Given the description of an element on the screen output the (x, y) to click on. 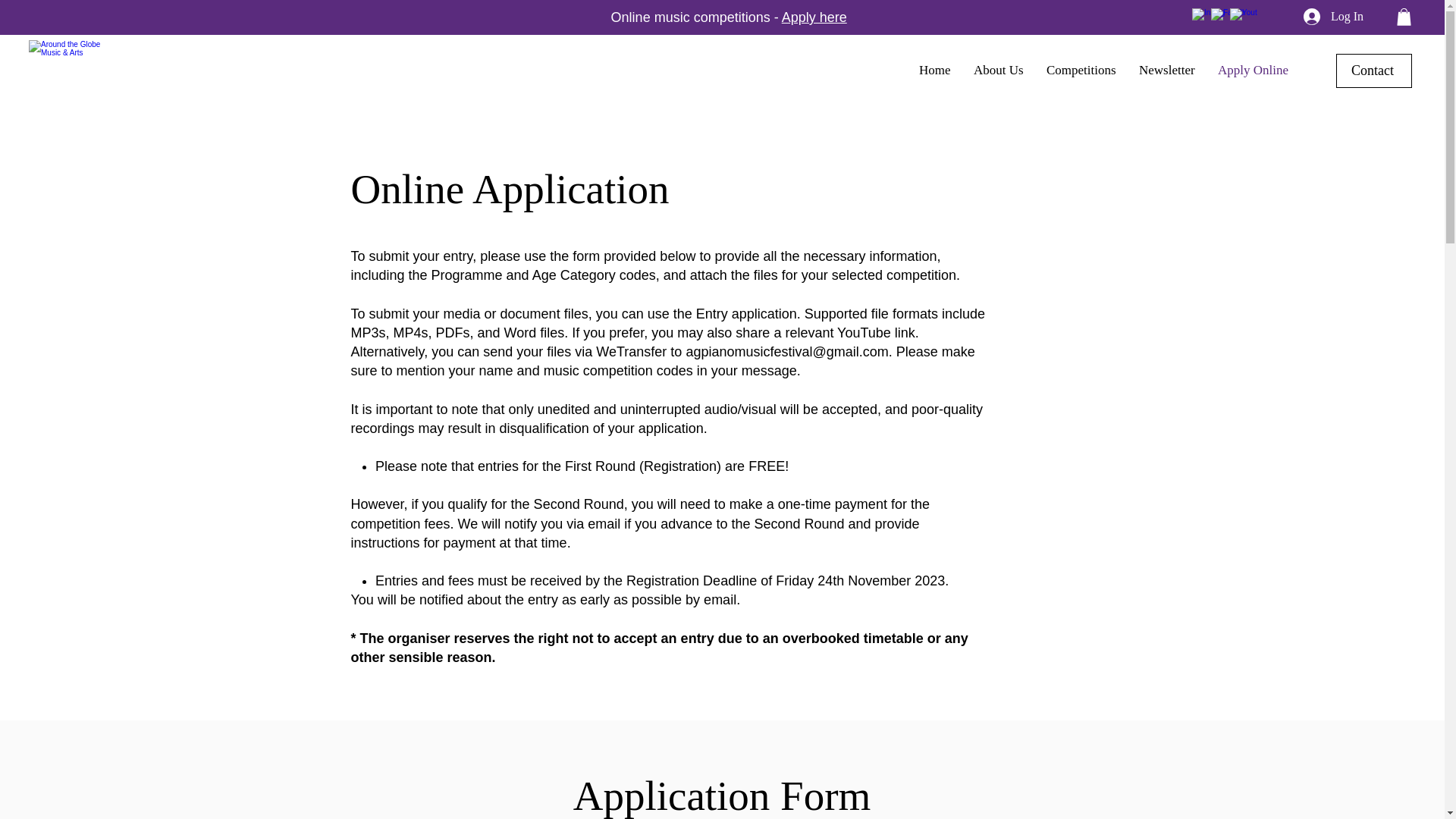
Contact (1374, 70)
Home (934, 70)
Newsletter (1166, 70)
Apply Online (1253, 70)
Apply here (814, 17)
Log In (1333, 16)
About Us (998, 70)
Picture 1.png (66, 70)
